Given the description of an element on the screen output the (x, y) to click on. 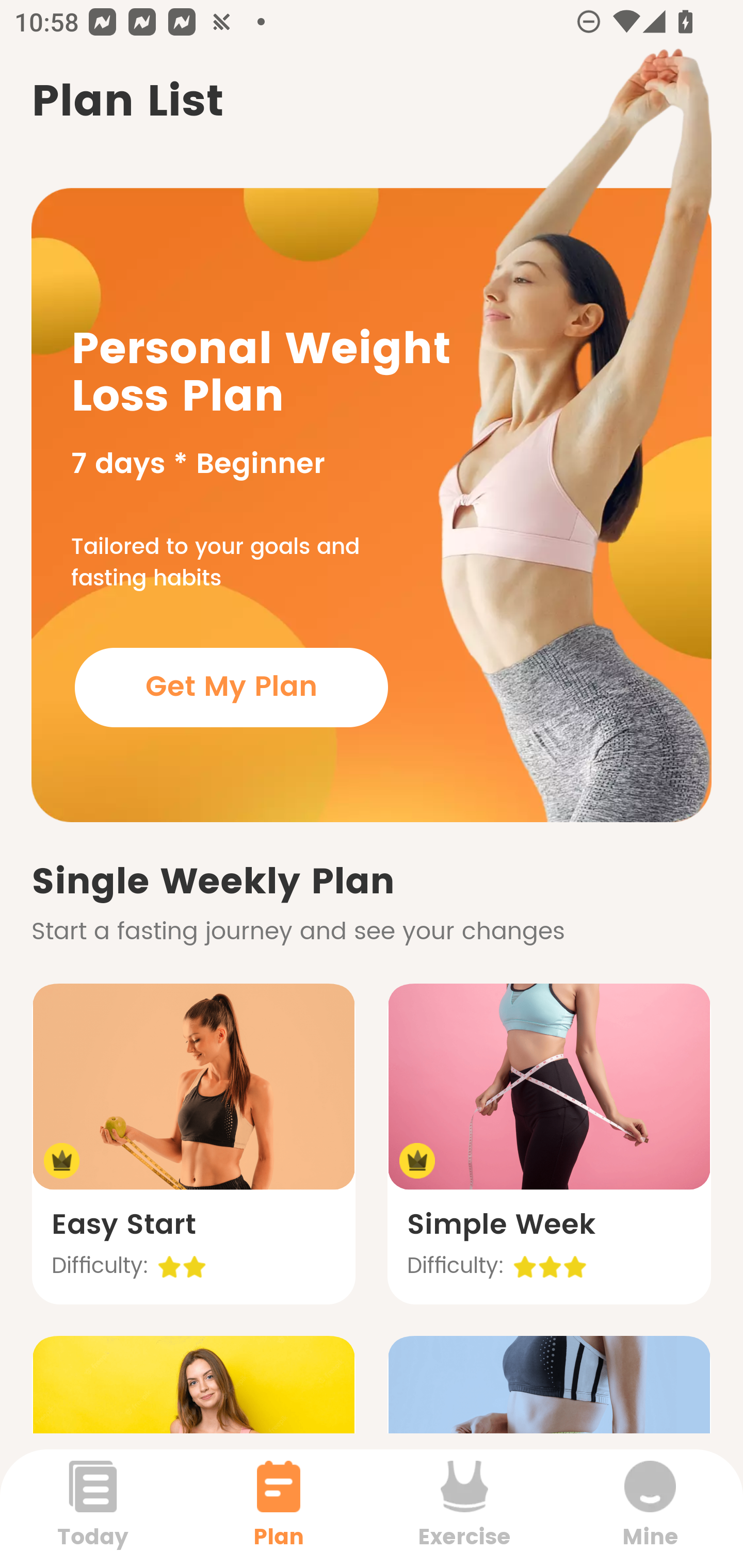
Get My Plan (231, 687)
Easy Start Difficulty: 2.0 (193, 1143)
Simple Week Difficulty: 3.0 (549, 1143)
Today (92, 1508)
Exercise (464, 1508)
Mine (650, 1508)
